Given the description of an element on the screen output the (x, y) to click on. 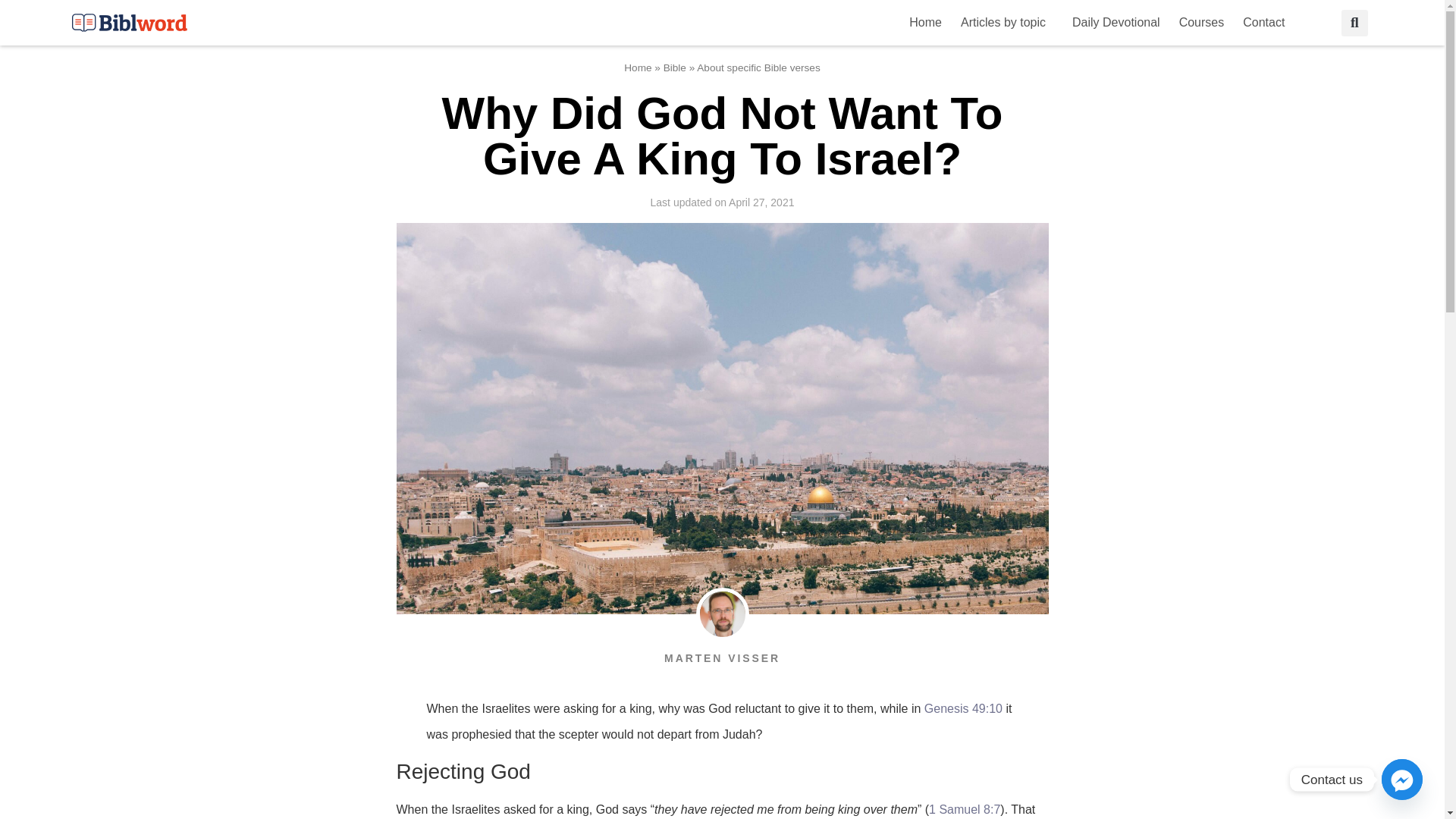
Daily Devotional (1115, 22)
Articles by topic (1007, 22)
Contact (1267, 22)
Home (925, 22)
Courses (1201, 22)
